Given the description of an element on the screen output the (x, y) to click on. 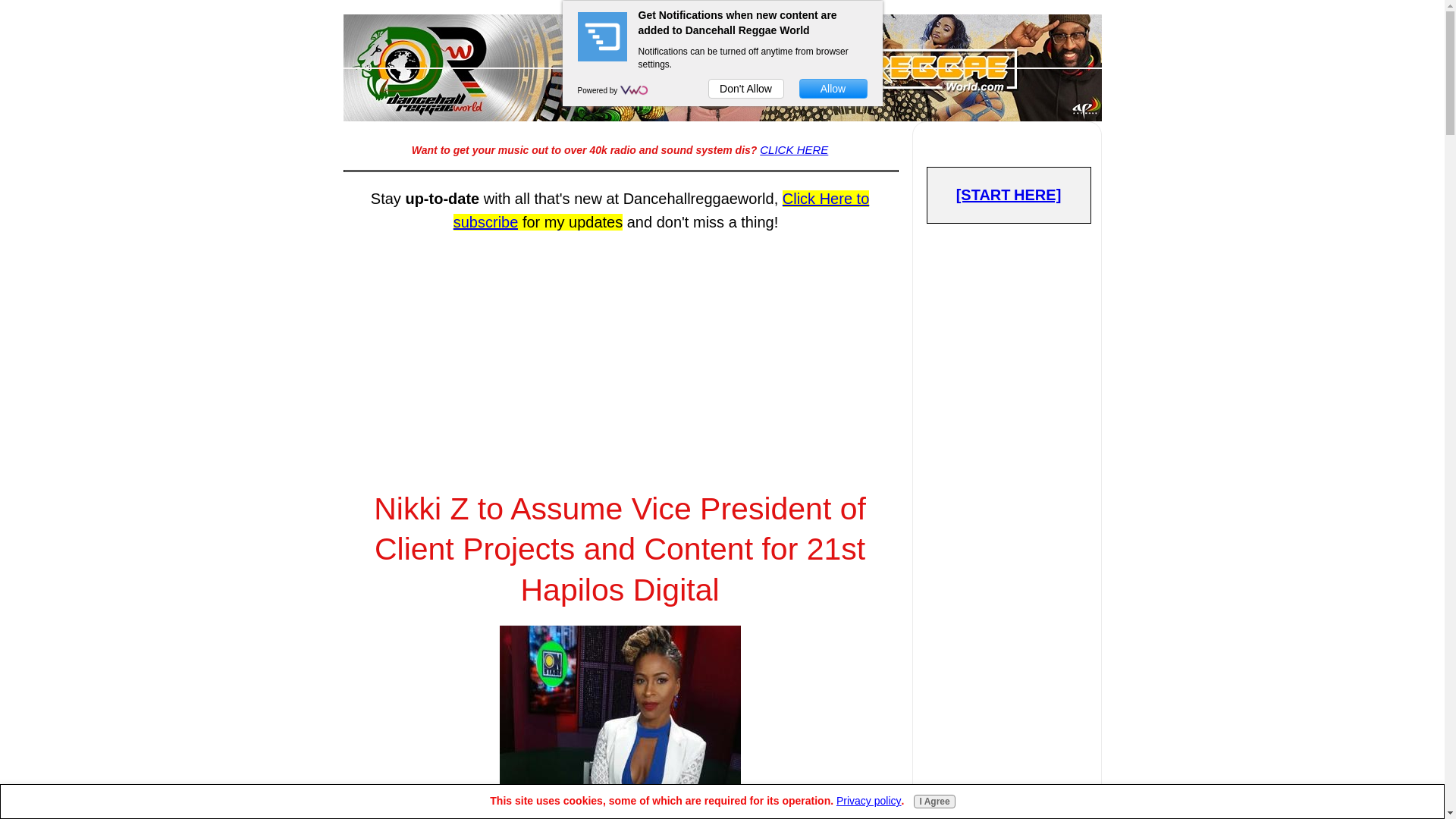
Click Here to subscribe (660, 210)
CLICK HERE (794, 150)
Advertisement (1008, 764)
Advertisement (619, 347)
